Given the description of an element on the screen output the (x, y) to click on. 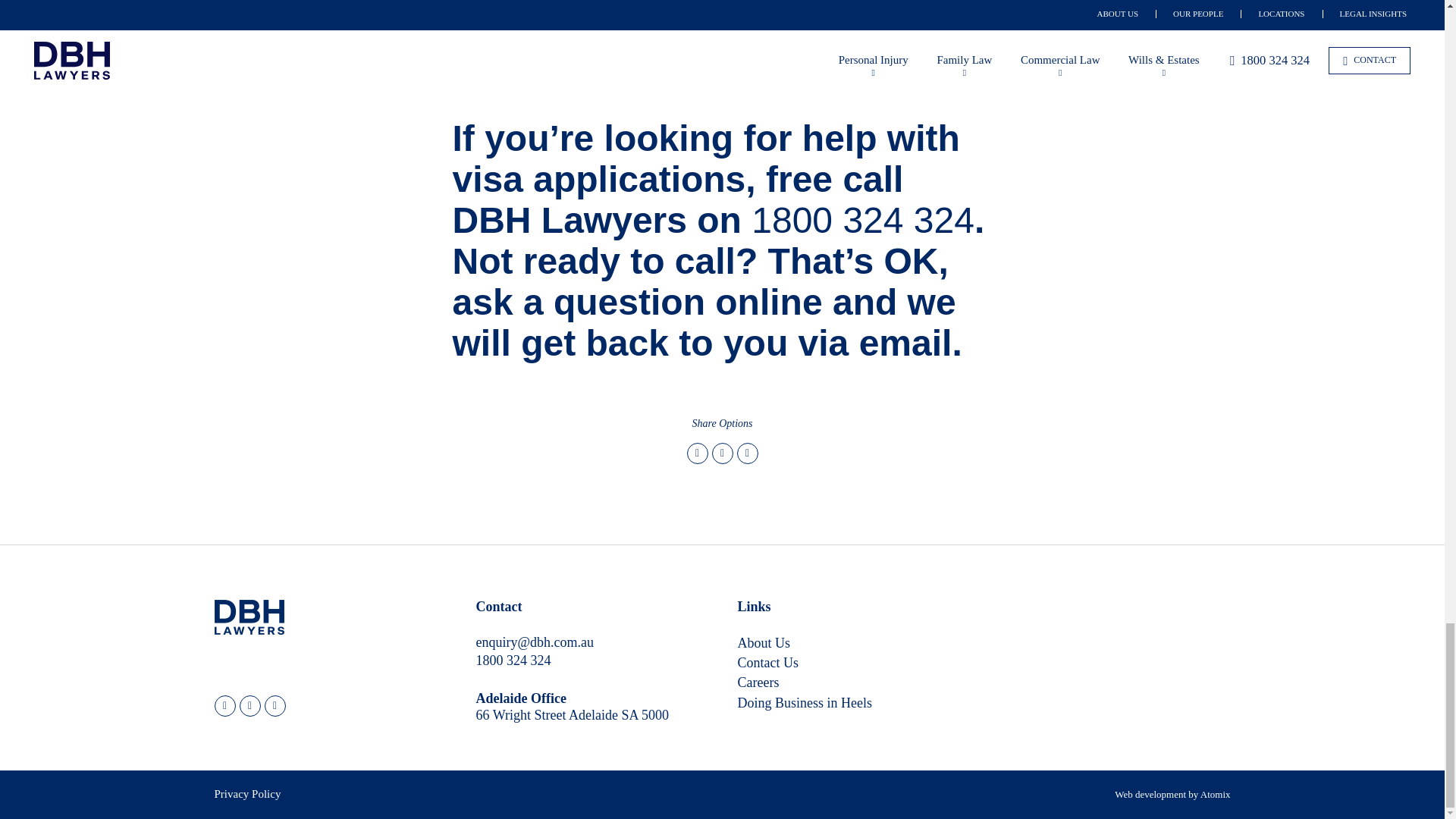
Share on Twitter (697, 453)
Web development by Atomix (1172, 794)
Share on Facebook (721, 453)
Share on LinkedIn (747, 453)
